Given the description of an element on the screen output the (x, y) to click on. 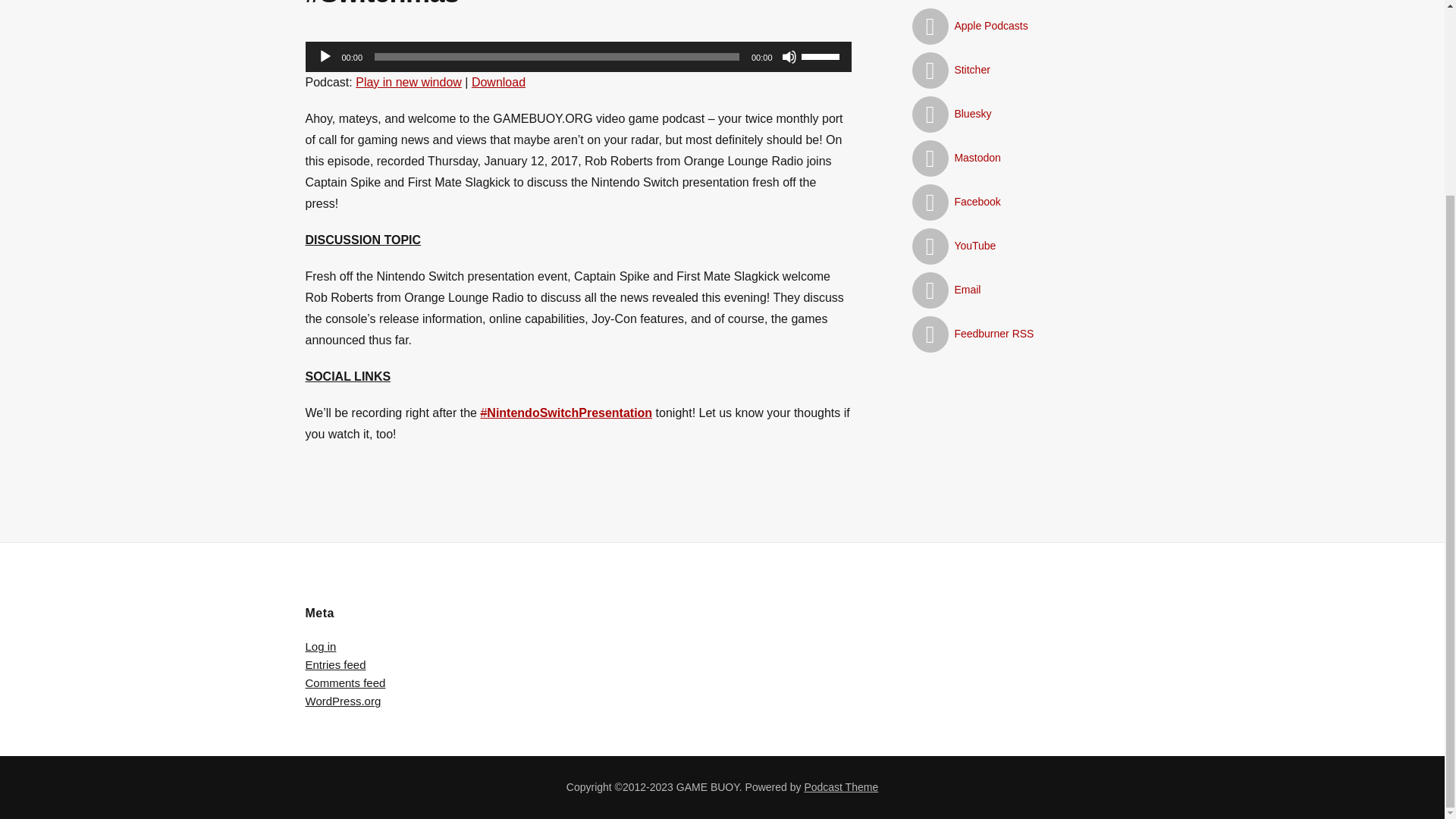
Play in new window (408, 82)
Feedburner RSS (972, 333)
Email (945, 289)
Apple Podcasts (969, 25)
Mute (788, 56)
Play (324, 56)
Podcast Theme (840, 787)
YouTube (953, 245)
Download (498, 82)
Facebook (955, 201)
Play in new window (408, 82)
YouTube (953, 245)
Apple Podcasts (969, 25)
WordPress.org (342, 700)
Mastodon (955, 157)
